Given the description of an element on the screen output the (x, y) to click on. 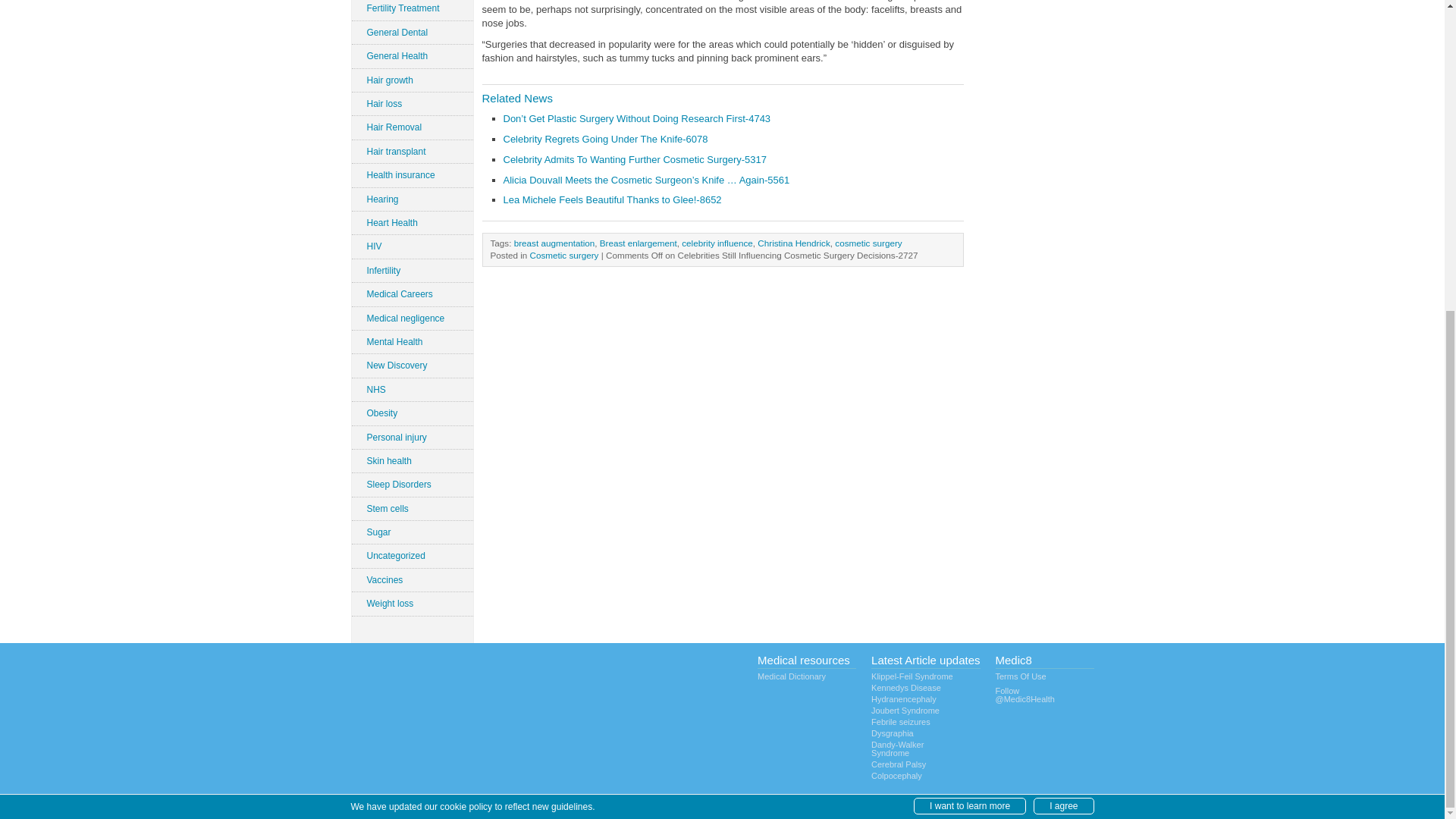
breast augmentation (554, 243)
Cosmetic surgery (563, 255)
celebrity influence (716, 243)
Fertility Treatment (412, 9)
Christina Hendrick (793, 243)
General Dental (412, 32)
Celebrity Regrets Going Under The Knife-6078 (605, 138)
Celebrity Admits To Wanting Further Cosmetic Surgery-5317 (635, 159)
Breast enlargement (638, 243)
cosmetic surgery (867, 243)
